Given the description of an element on the screen output the (x, y) to click on. 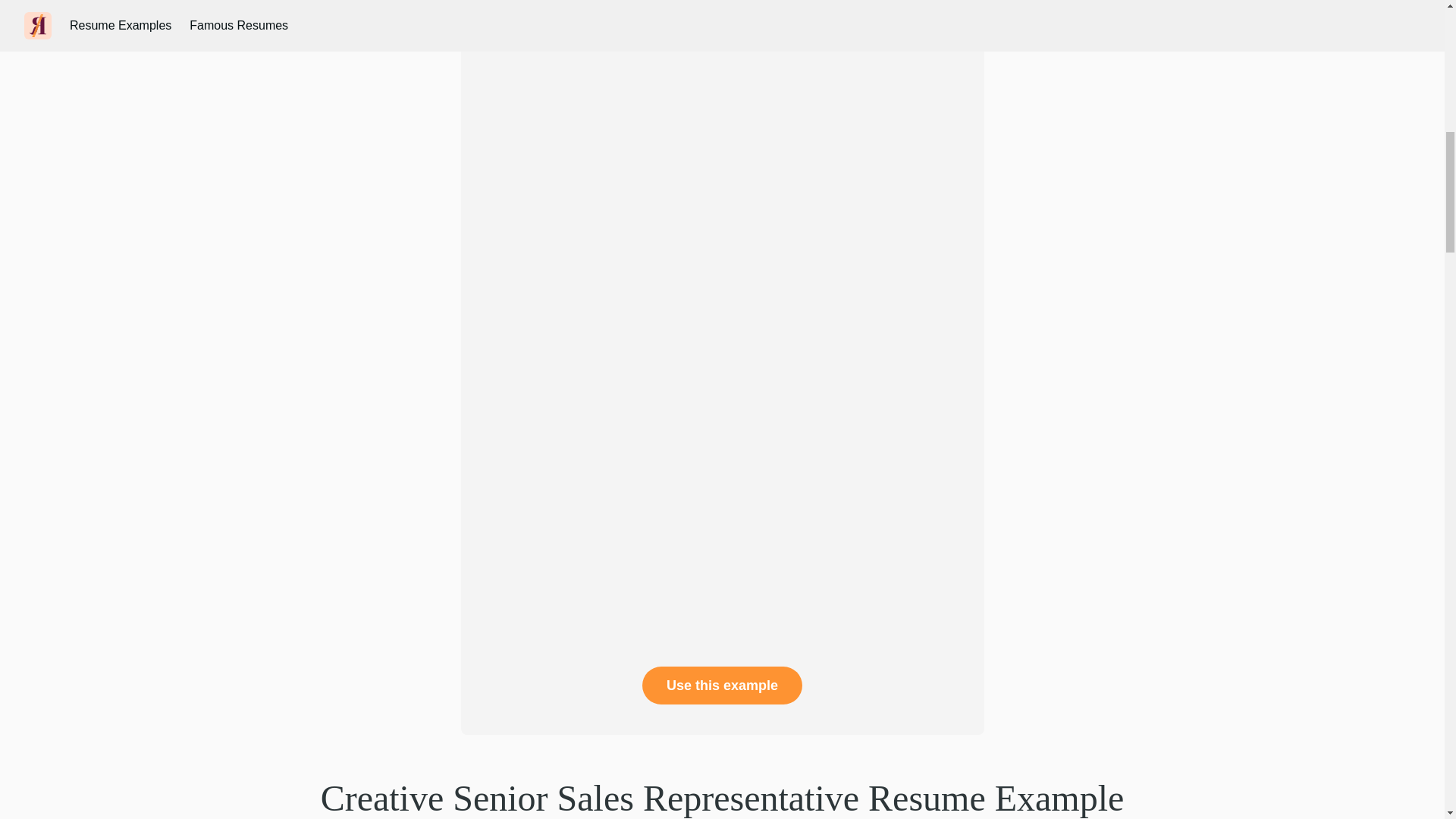
Use this example (722, 685)
